Given the description of an element on the screen output the (x, y) to click on. 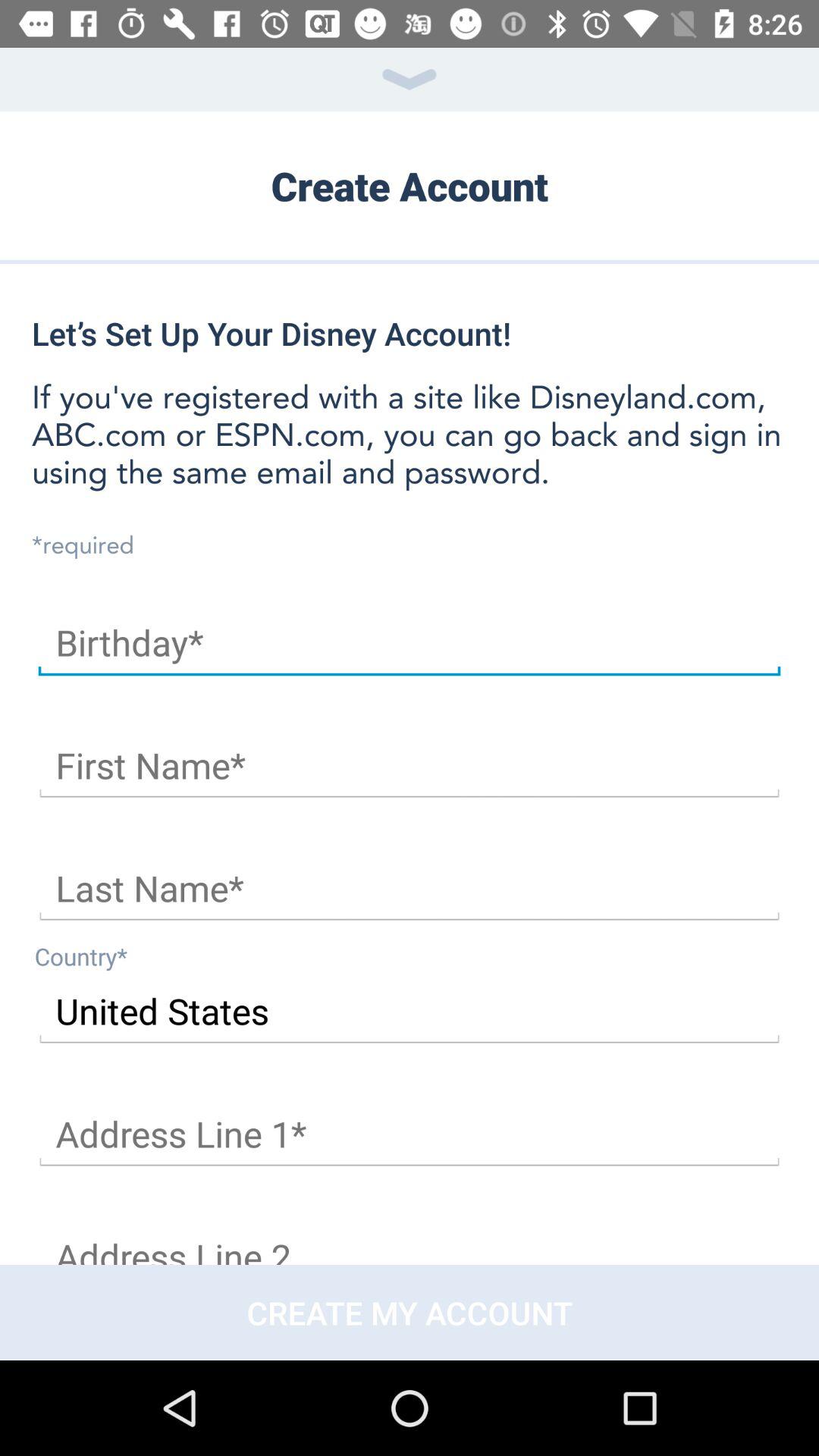
enter birthdate (409, 643)
